Given the description of an element on the screen output the (x, y) to click on. 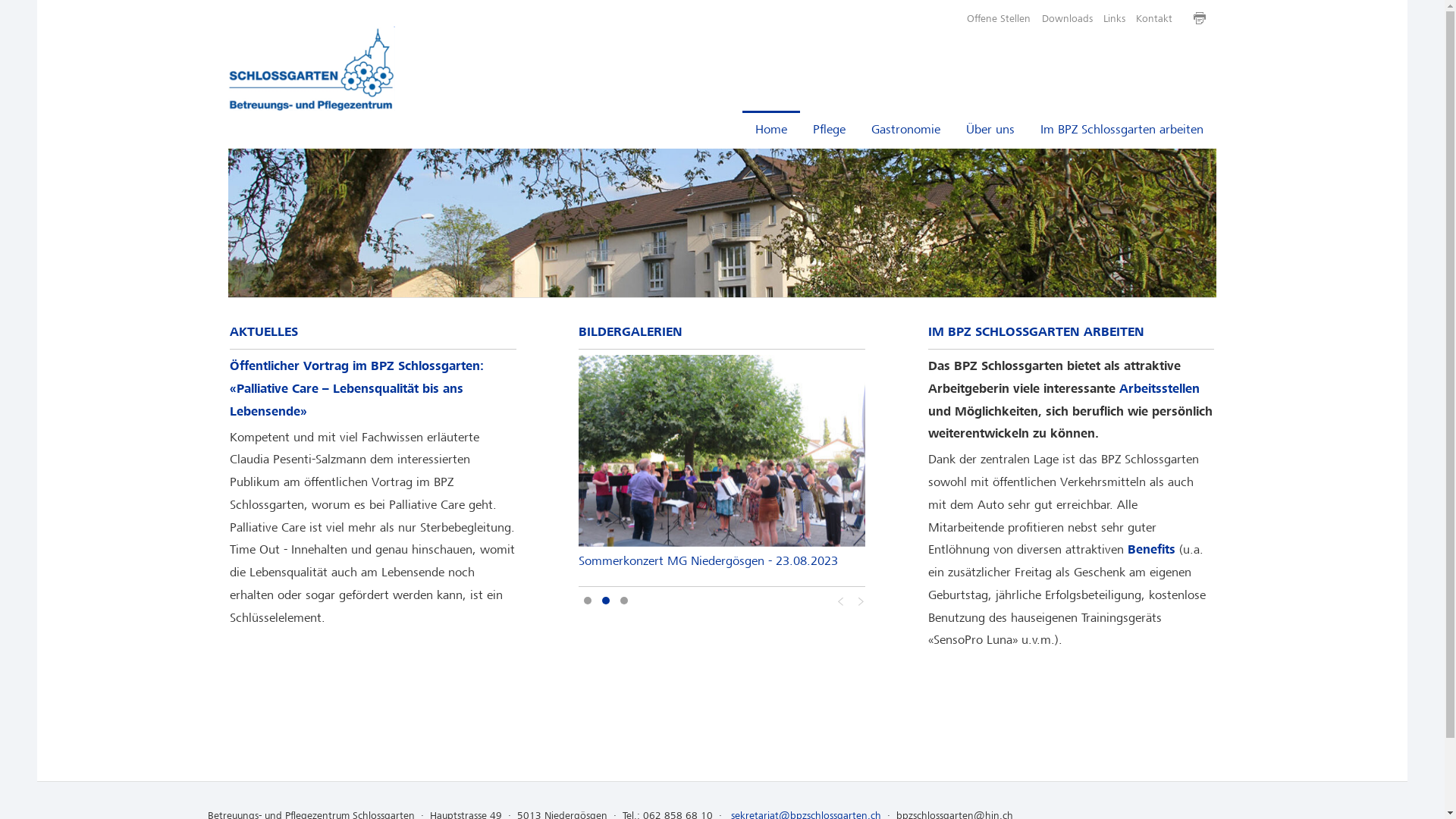
Im BPZ Schlossgarten arbeiten Element type: text (1121, 129)
Arbeitsstellen Element type: text (1159, 388)
Downloads Element type: text (1066, 18)
Kontakt Element type: text (1153, 18)
Benefits Element type: text (1151, 549)
Gastronomie Element type: text (905, 129)
Home Element type: text (771, 129)
Links Element type: text (1114, 18)
Offene Stellen Element type: text (998, 18)
Pflege Element type: text (829, 129)
